Given the description of an element on the screen output the (x, y) to click on. 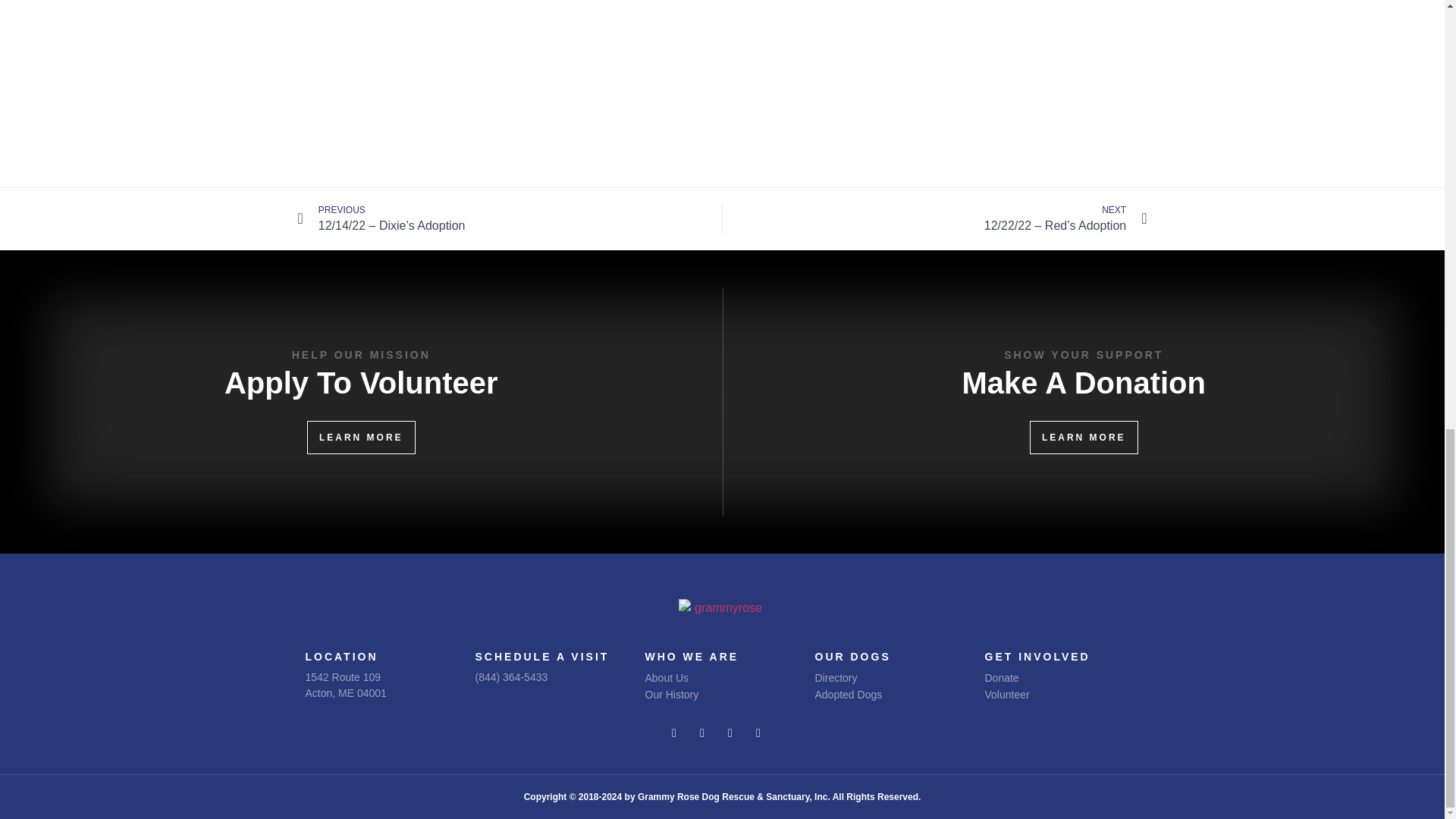
About Us (708, 677)
LEARN MORE (360, 437)
Directory (884, 677)
LEARN MORE (344, 684)
Our History (1083, 437)
